Given the description of an element on the screen output the (x, y) to click on. 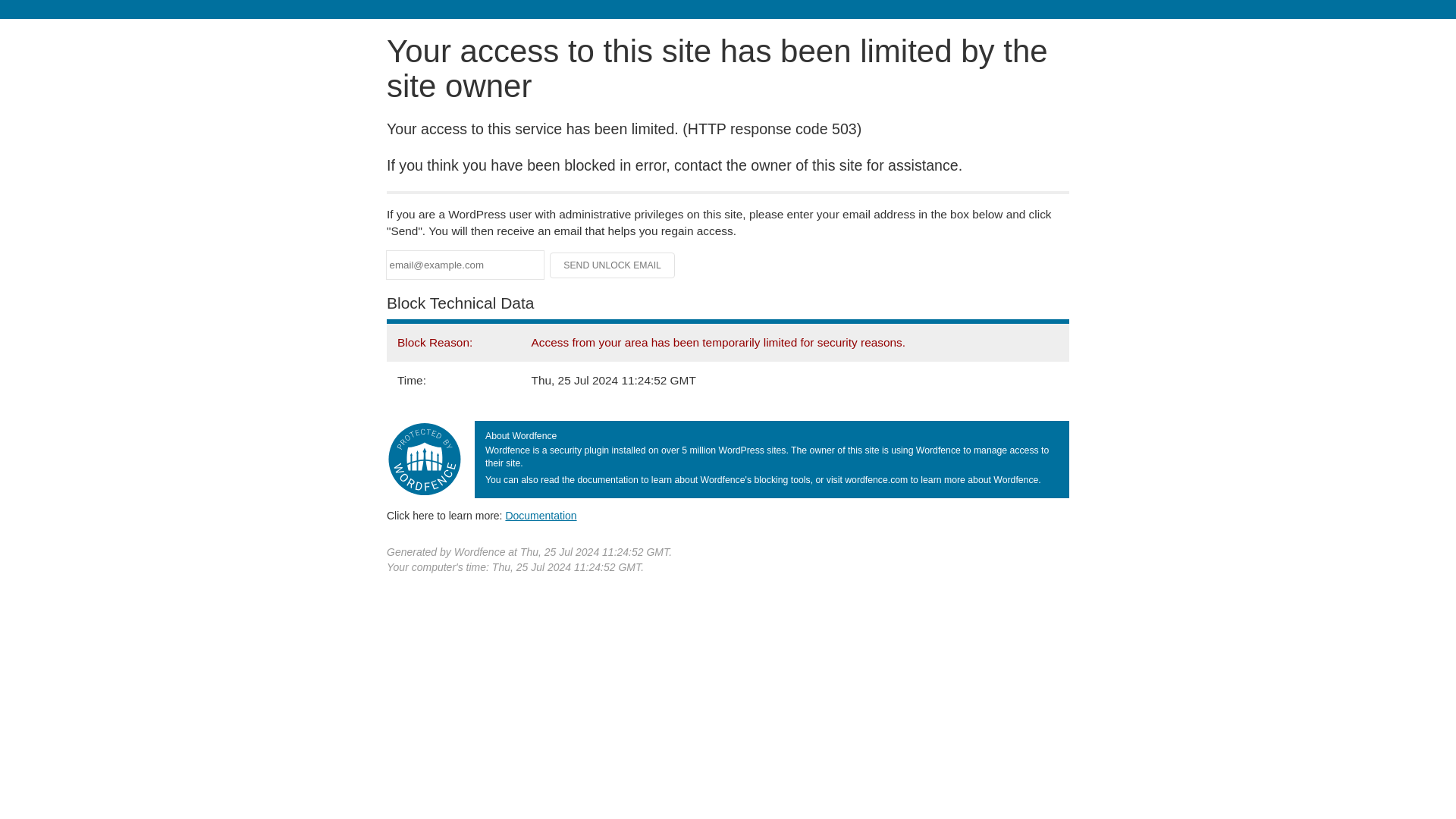
Documentation (540, 515)
Send Unlock Email (612, 265)
Send Unlock Email (612, 265)
